Given the description of an element on the screen output the (x, y) to click on. 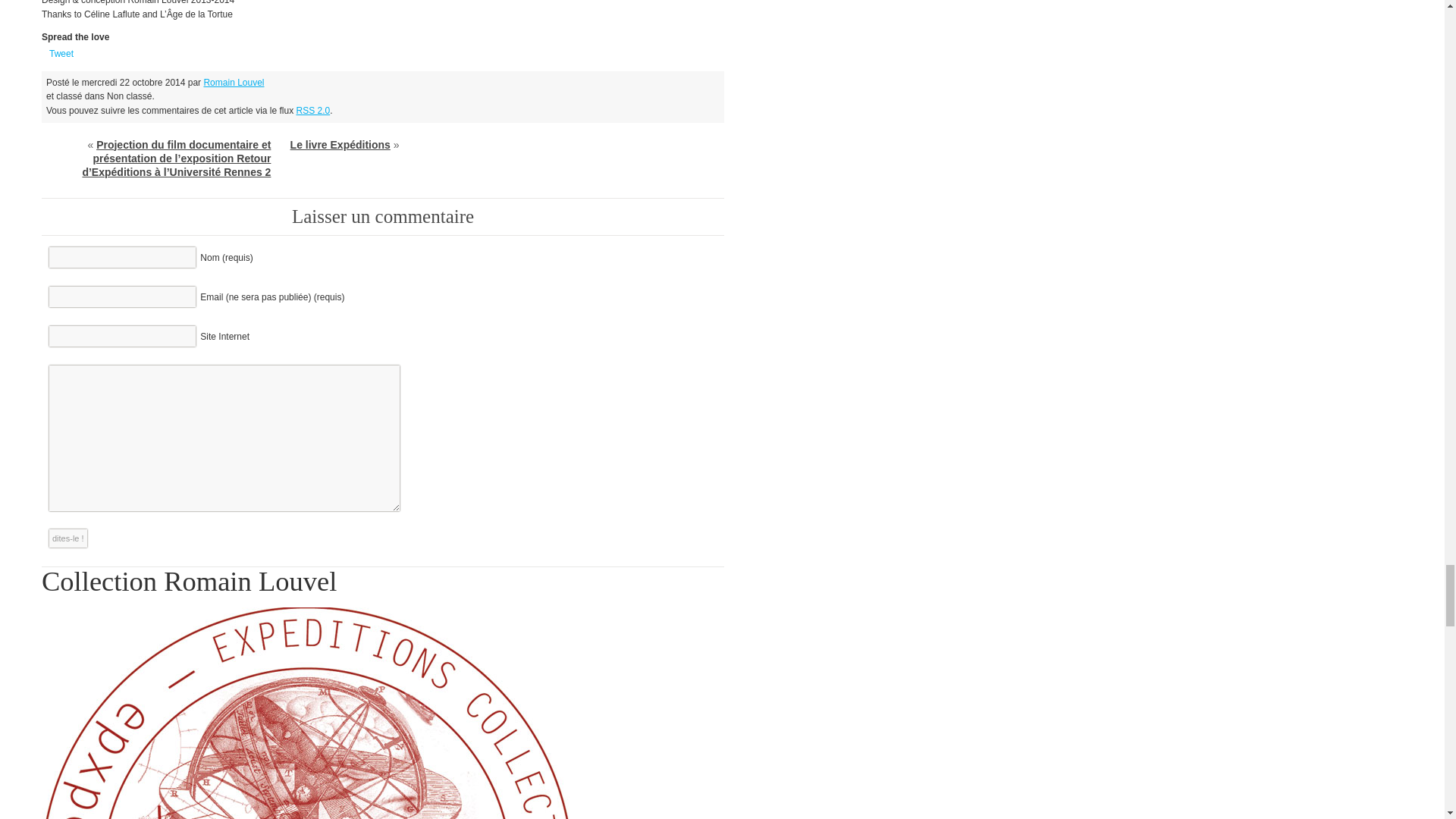
dites-le ! (68, 538)
Articles par Romain Louvel (233, 81)
